Given the description of an element on the screen output the (x, y) to click on. 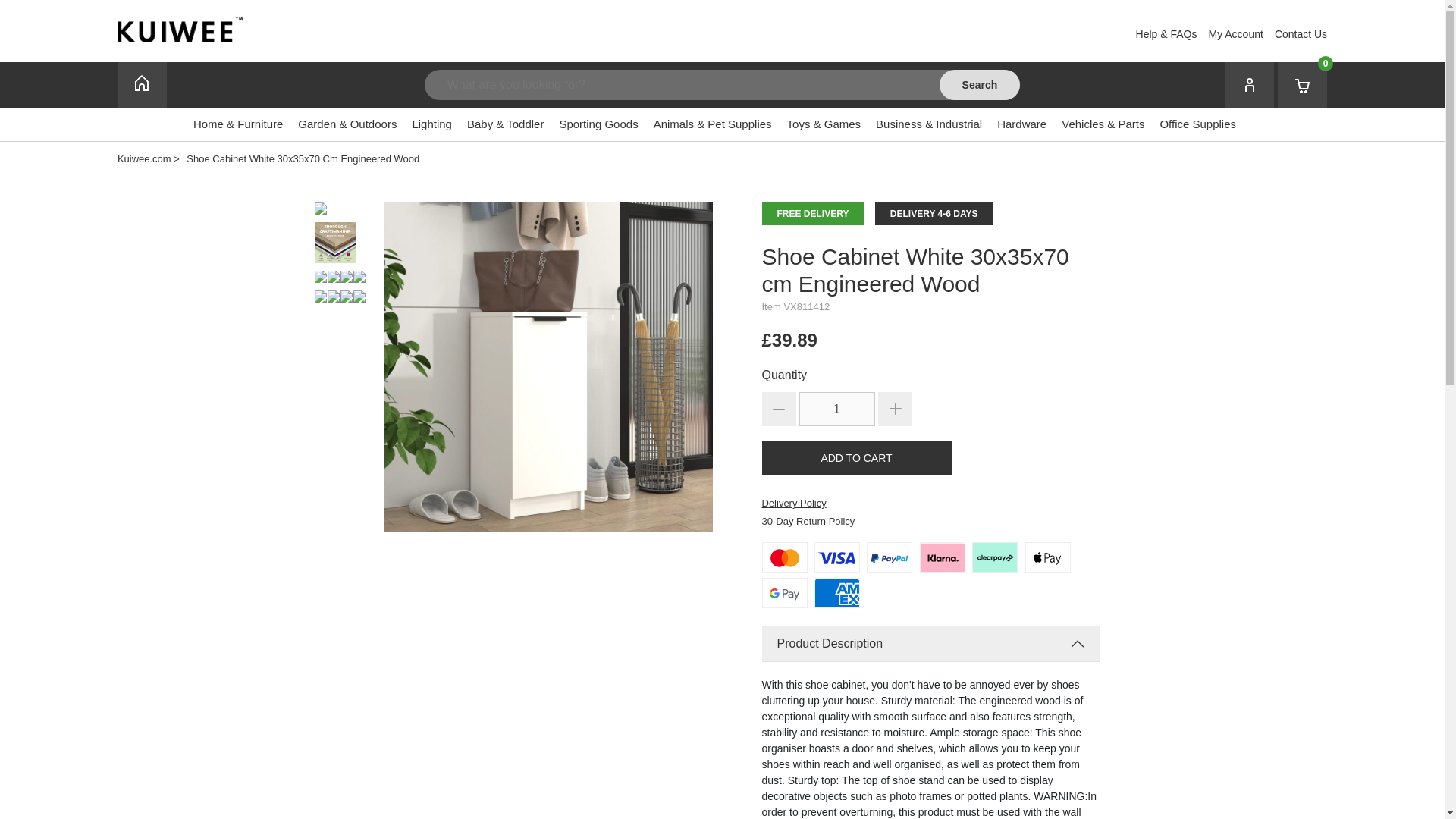
Lighting (431, 128)
Contact Us (1300, 34)
Hardware (1021, 128)
Sporting Goods (598, 128)
0 (1302, 84)
Account Login (1235, 34)
Add to cart (855, 458)
Homepage (142, 84)
Lighting (431, 128)
Sporting Goods (598, 128)
